Given the description of an element on the screen output the (x, y) to click on. 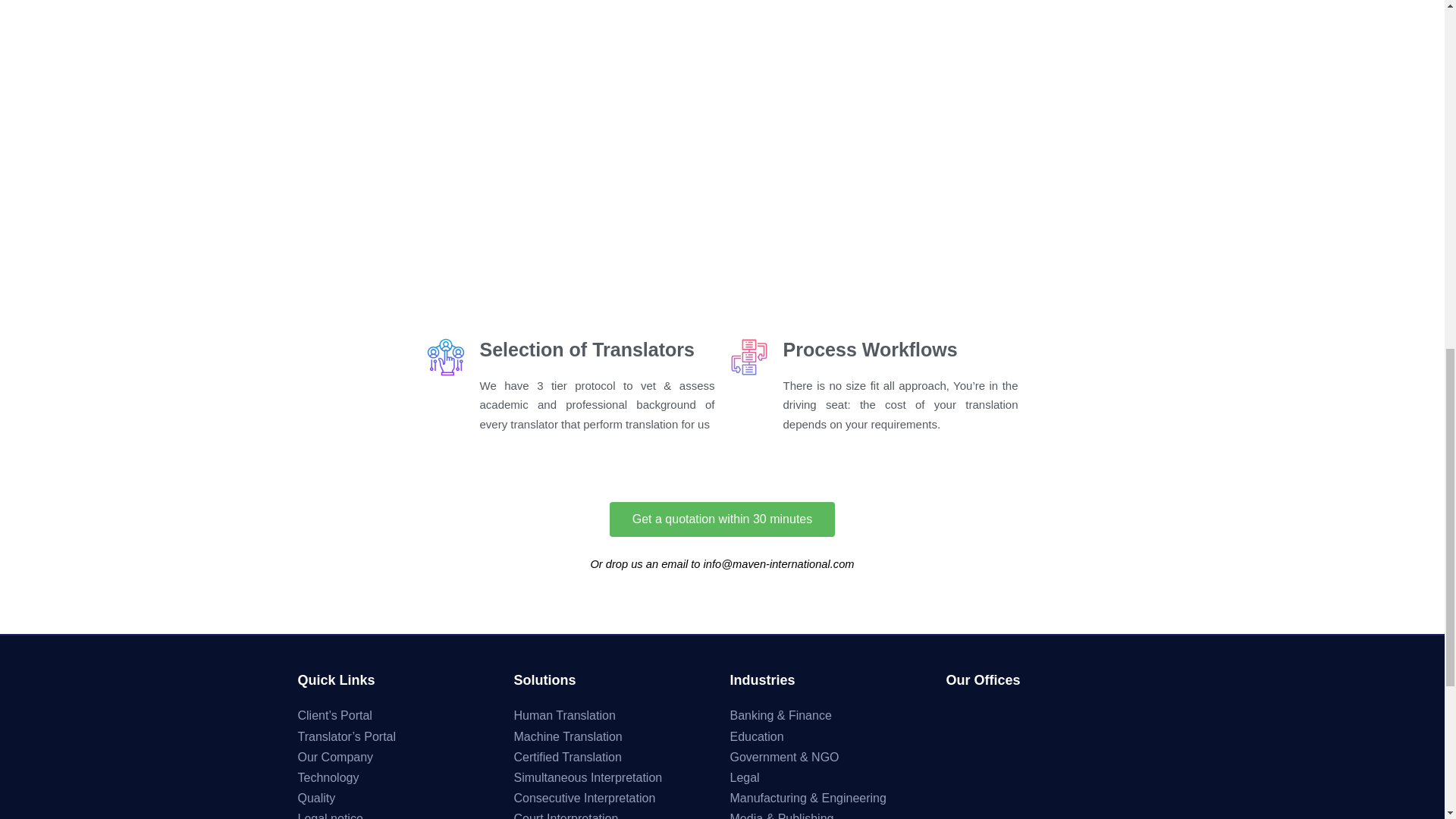
Get a quotation within 30 minutes (722, 519)
Our Company (334, 757)
Quality (315, 797)
Machine Translation (568, 736)
Human Translation (564, 715)
Simultaneous Interpretation (587, 777)
Education (756, 736)
Legal (743, 777)
Consecutive Interpretation (584, 797)
Legal notice (329, 815)
